Given the description of an element on the screen output the (x, y) to click on. 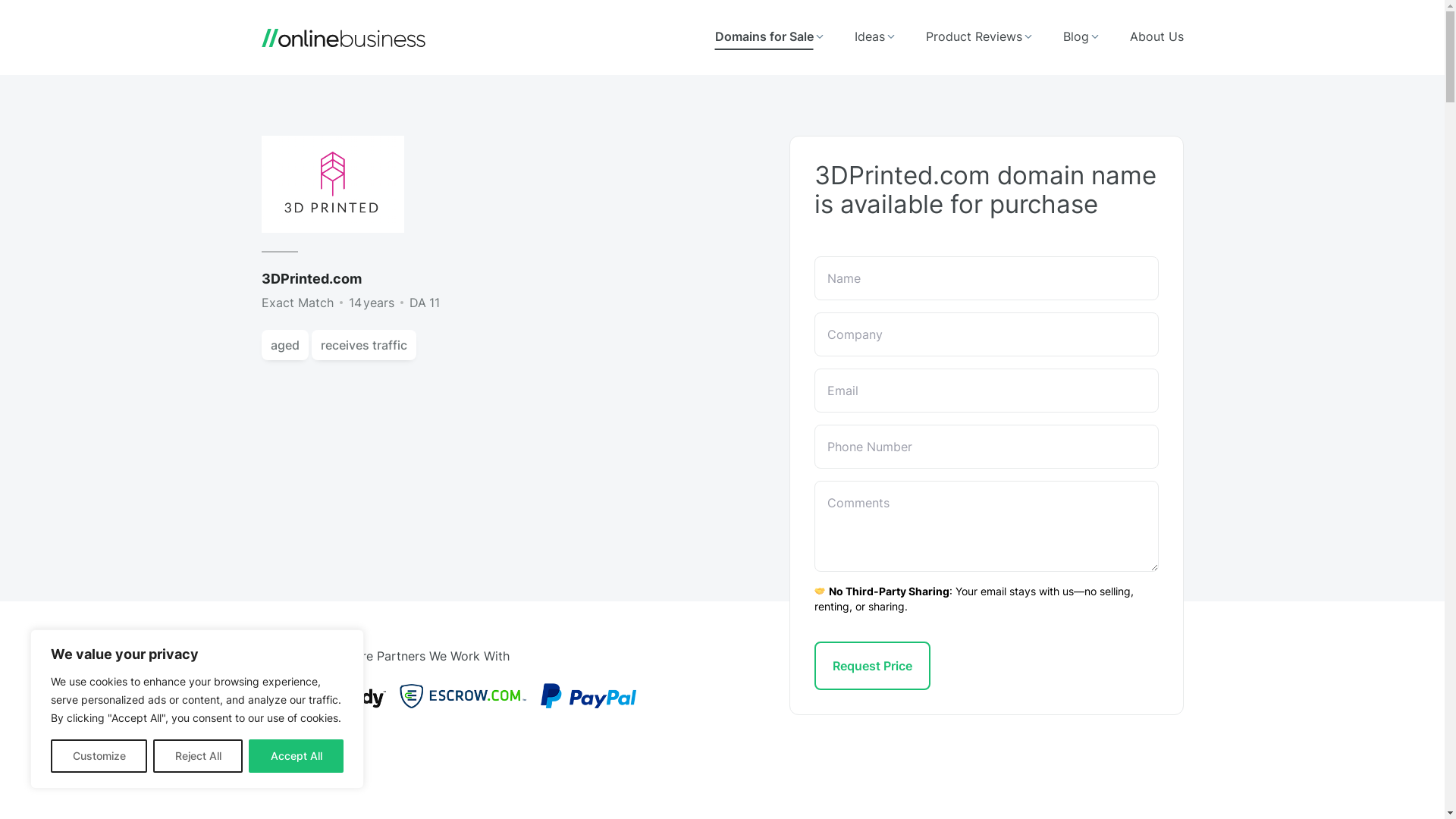
Blog Element type: text (1081, 37)
aged Element type: text (283, 344)
Exact Match Element type: text (296, 302)
About Us Element type: text (1156, 37)
receives traffic Element type: text (363, 344)
Request Price Element type: text (872, 665)
Ideas Element type: text (873, 37)
Domains for Sale Element type: text (768, 37)
Product Reviews Element type: text (978, 37)
